Given the description of an element on the screen output the (x, y) to click on. 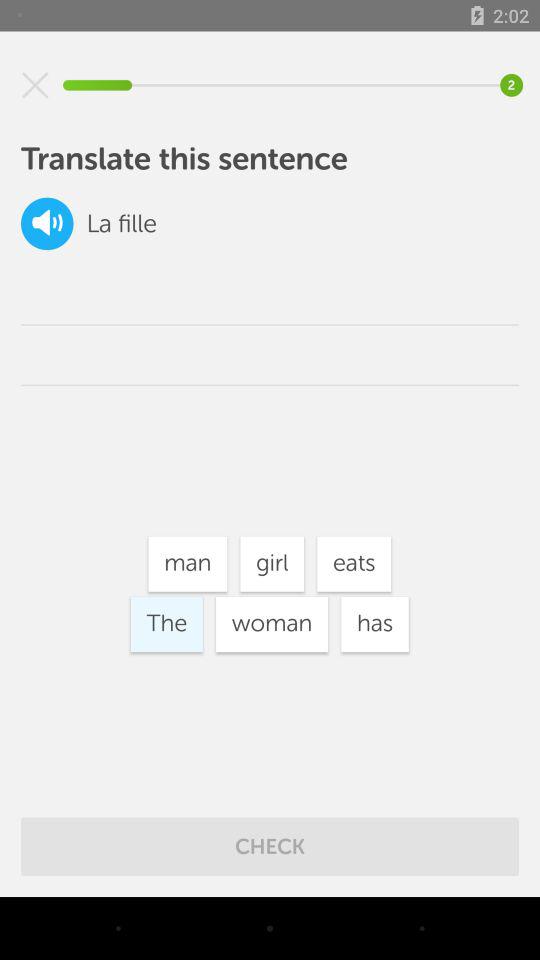
choose the item to the left of eats item (272, 563)
